Given the description of an element on the screen output the (x, y) to click on. 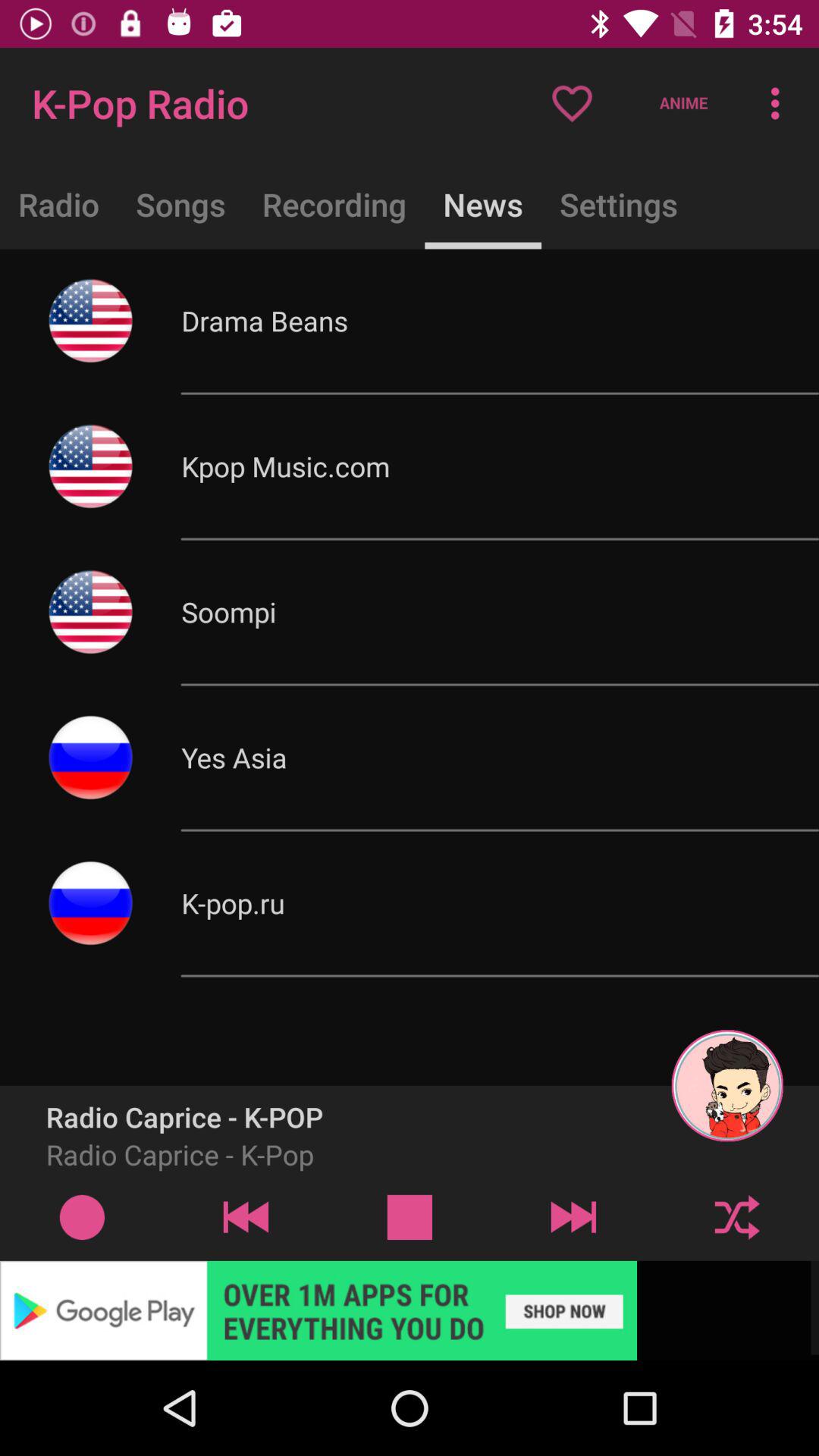
go back (245, 1216)
